Given the description of an element on the screen output the (x, y) to click on. 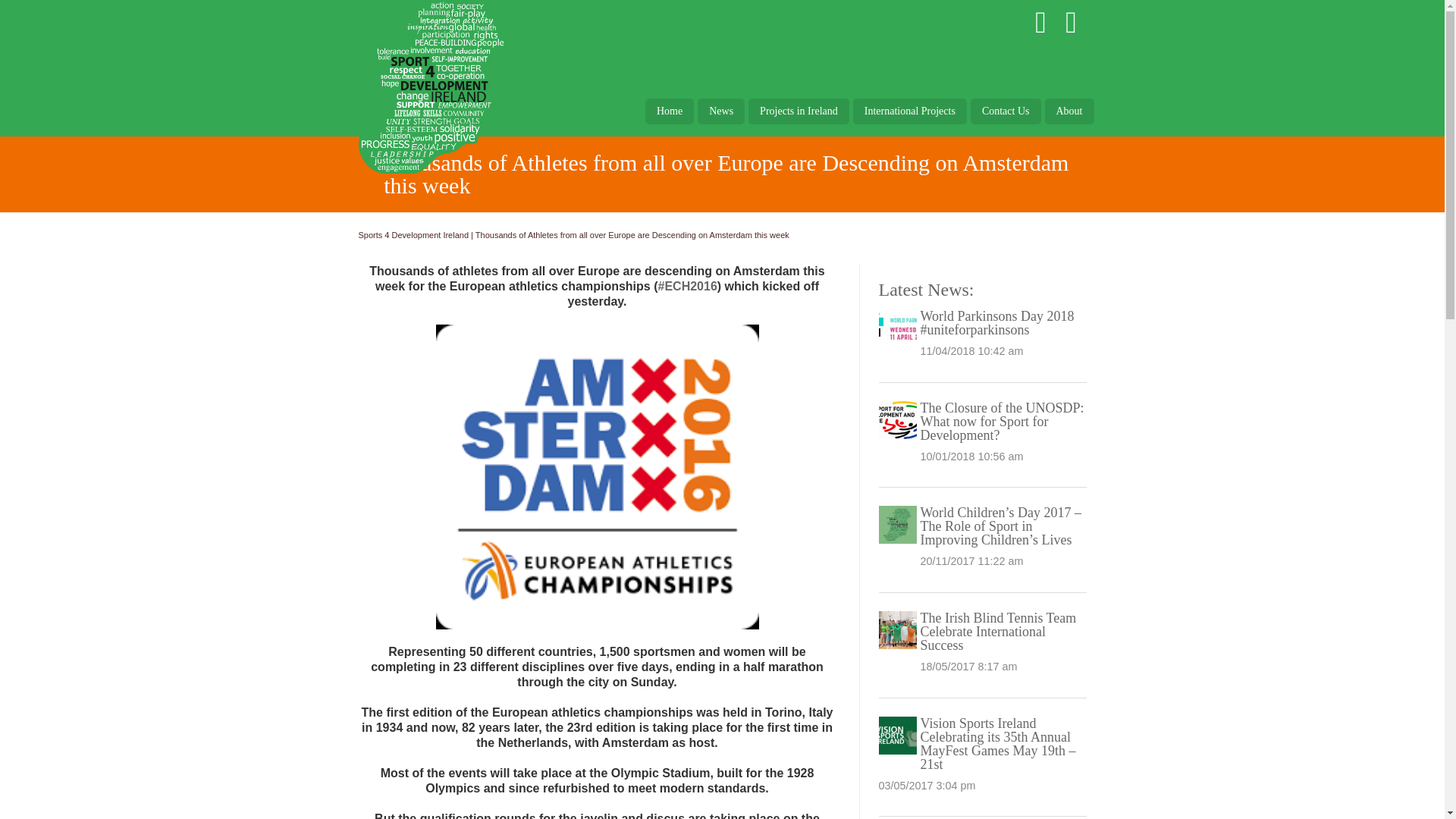
International Projects (909, 111)
Latest News: (925, 289)
About (1069, 111)
The Irish Blind Tennis Team Celebrate International Success (998, 631)
Projects in Ireland (798, 111)
News (720, 111)
Sports 4 Development Ireland (413, 234)
Contact Us (1006, 111)
Home (669, 111)
